Given the description of an element on the screen output the (x, y) to click on. 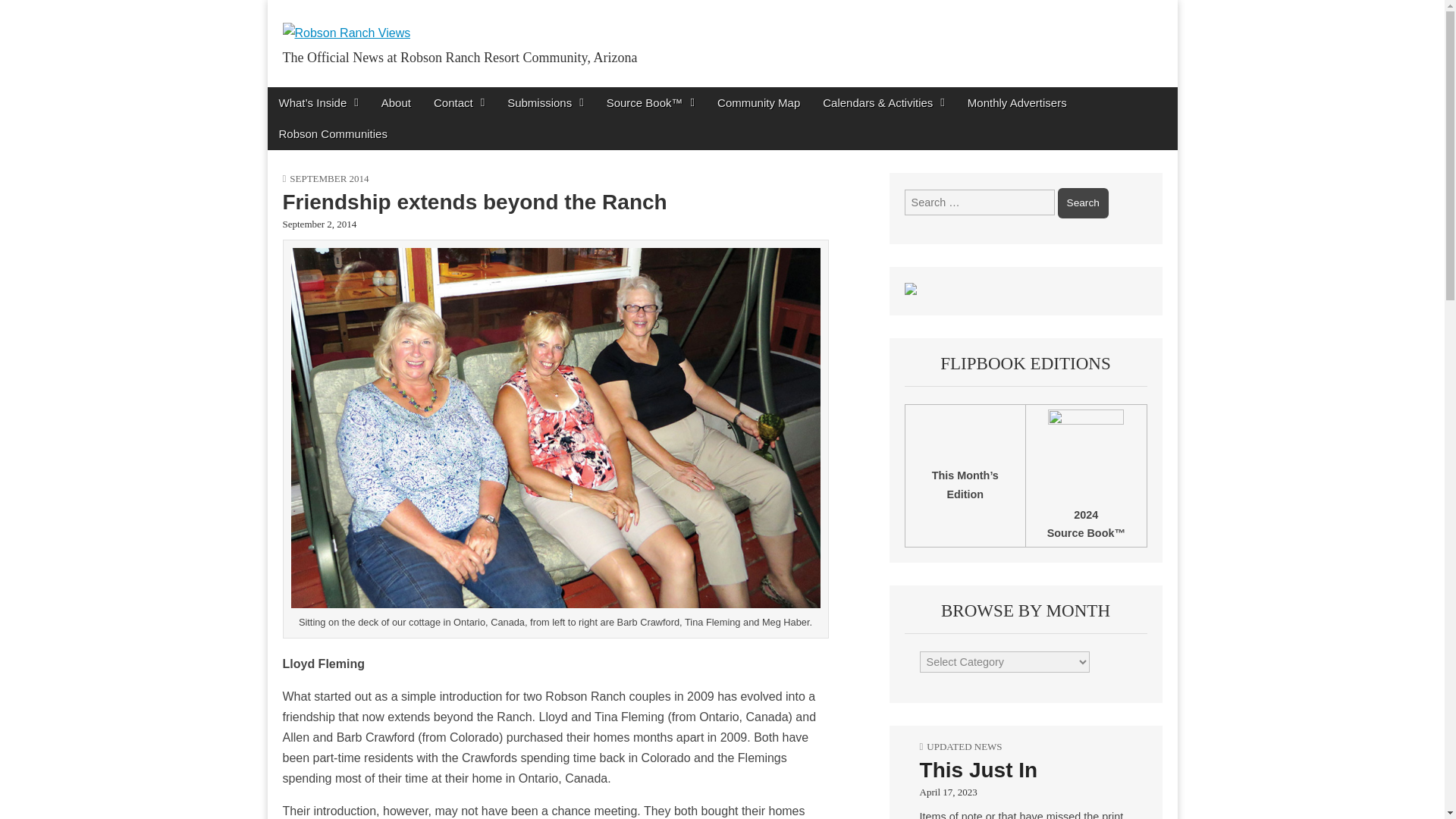
Contact (459, 101)
Monthly Advertisers (1017, 101)
SEPTEMBER 2014 (328, 178)
Robson Ranch Views (438, 91)
Submissions (545, 101)
Robson Ranch Views (345, 21)
Search (1083, 203)
Community Map (758, 101)
Search (1083, 203)
Robson Communities (331, 133)
Robson Ranch Views (438, 91)
About (395, 101)
